Given the description of an element on the screen output the (x, y) to click on. 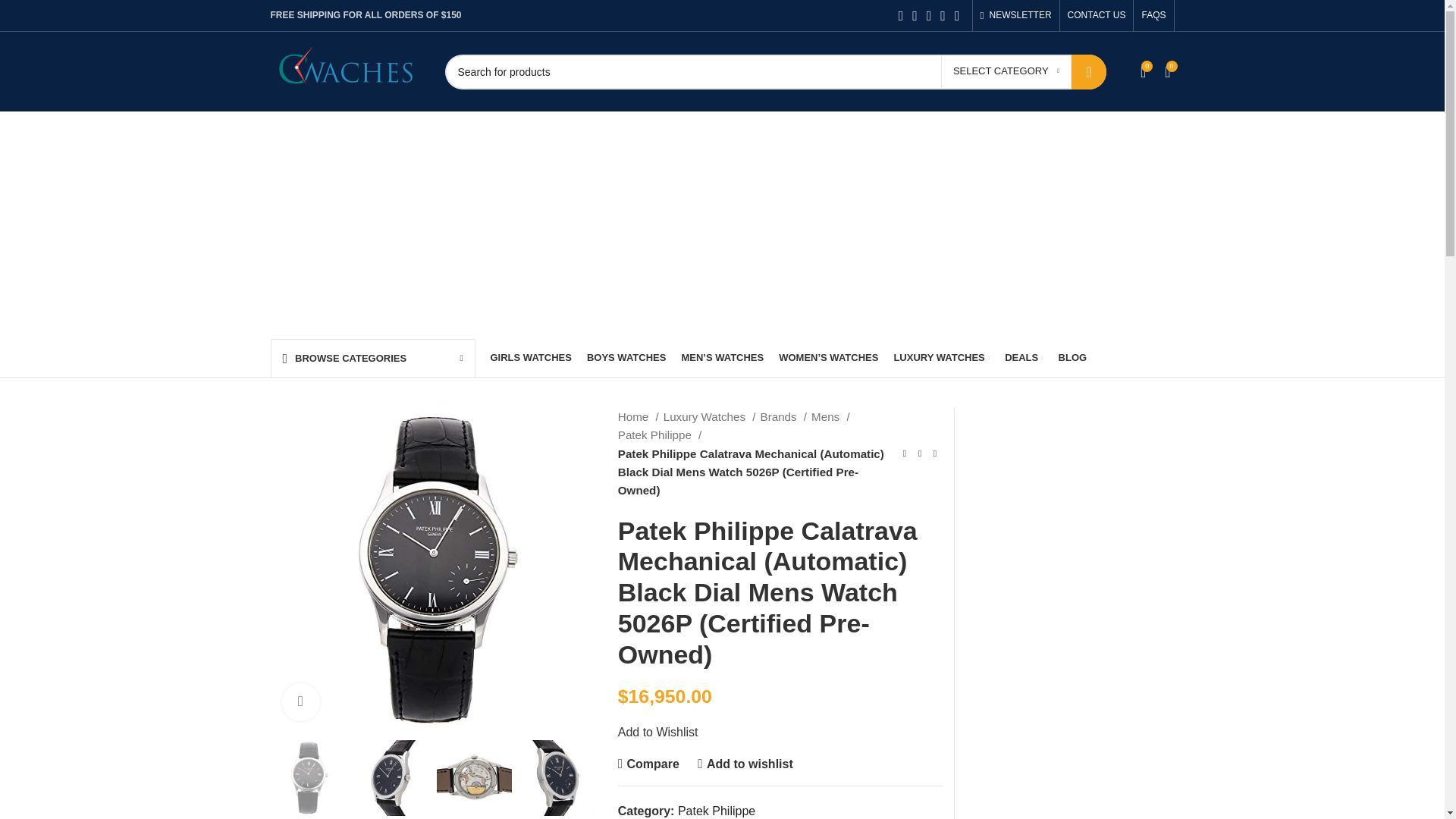
SELECT CATEGORY (1005, 71)
NEWSLETTER (1015, 15)
SEARCH (1088, 71)
SELECT CATEGORY (1005, 71)
Search for products (774, 71)
CONTACT US (1096, 15)
415-x-69SCL.jpg (431, 569)
